Given the description of an element on the screen output the (x, y) to click on. 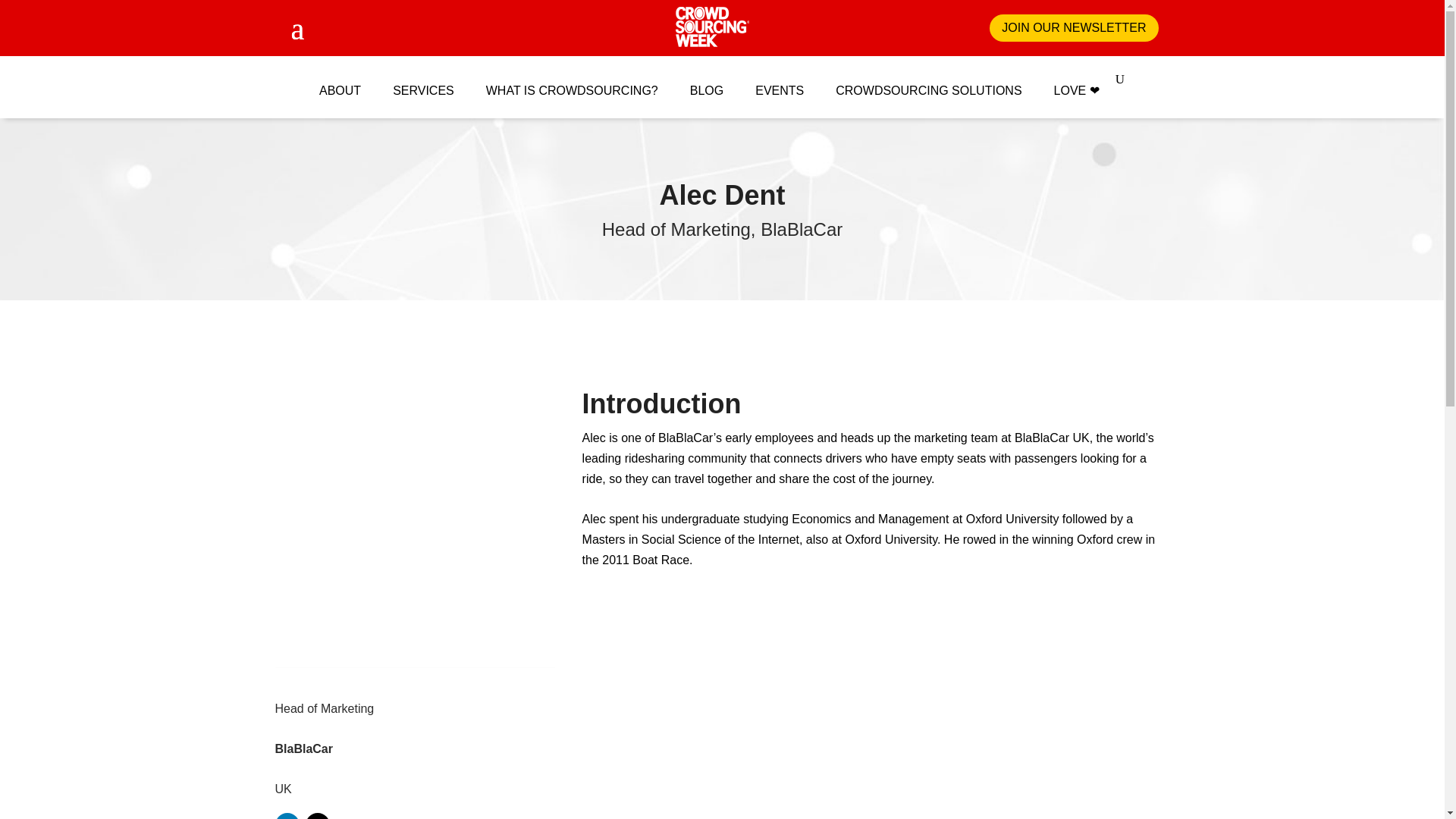
Follow on LinkedIn (286, 816)
CROWDSOURCING SOLUTIONS (928, 82)
Events (779, 82)
JOIN OUR NEWSLETTER (1073, 28)
Crowdsourcing Week (712, 27)
Crowdsourcing Solutions (928, 82)
About (339, 82)
EVENTS (779, 82)
SERVICES (423, 82)
Customer Love (1076, 82)
